Given the description of an element on the screen output the (x, y) to click on. 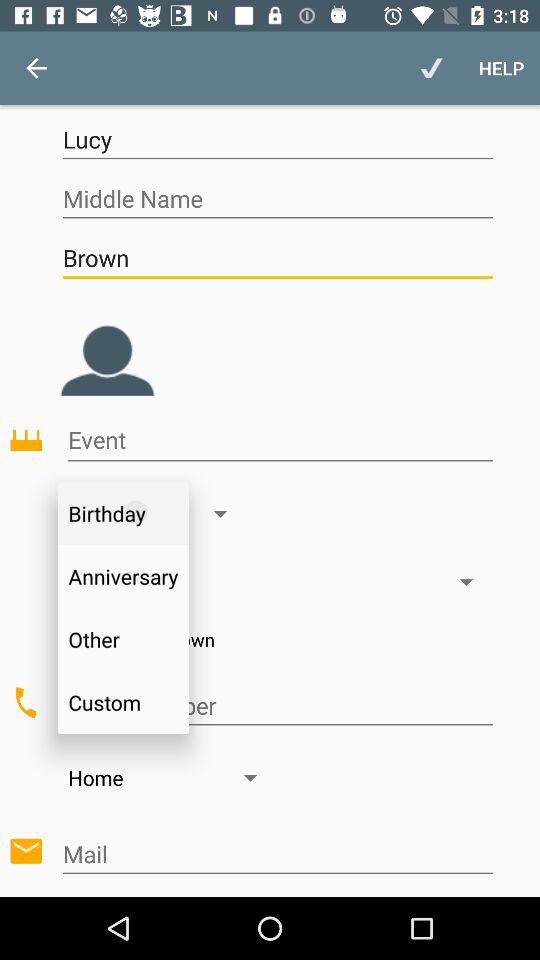
set profile picture option (107, 345)
